Given the description of an element on the screen output the (x, y) to click on. 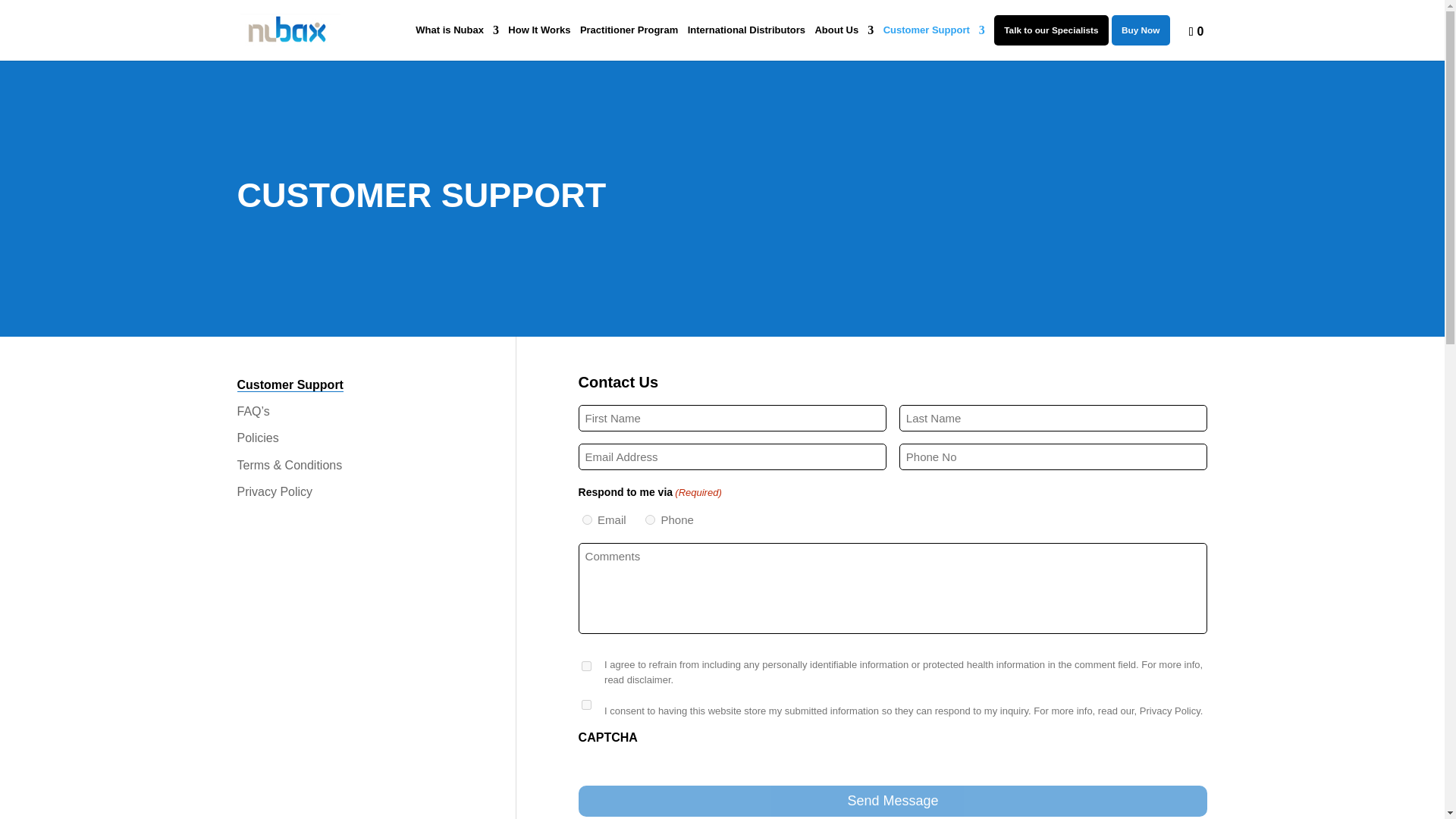
How It Works (539, 42)
Customer Support (934, 42)
Talk to our Specialists (1051, 30)
Send Message (893, 800)
Practitioner Program (628, 42)
Privacy Policy (274, 491)
Phone (650, 519)
Buy Now (1140, 30)
Send Message (893, 800)
What is Nubax (456, 42)
International Distributors (746, 42)
Customer Support (288, 385)
0 Items (1188, 30)
